Given the description of an element on the screen output the (x, y) to click on. 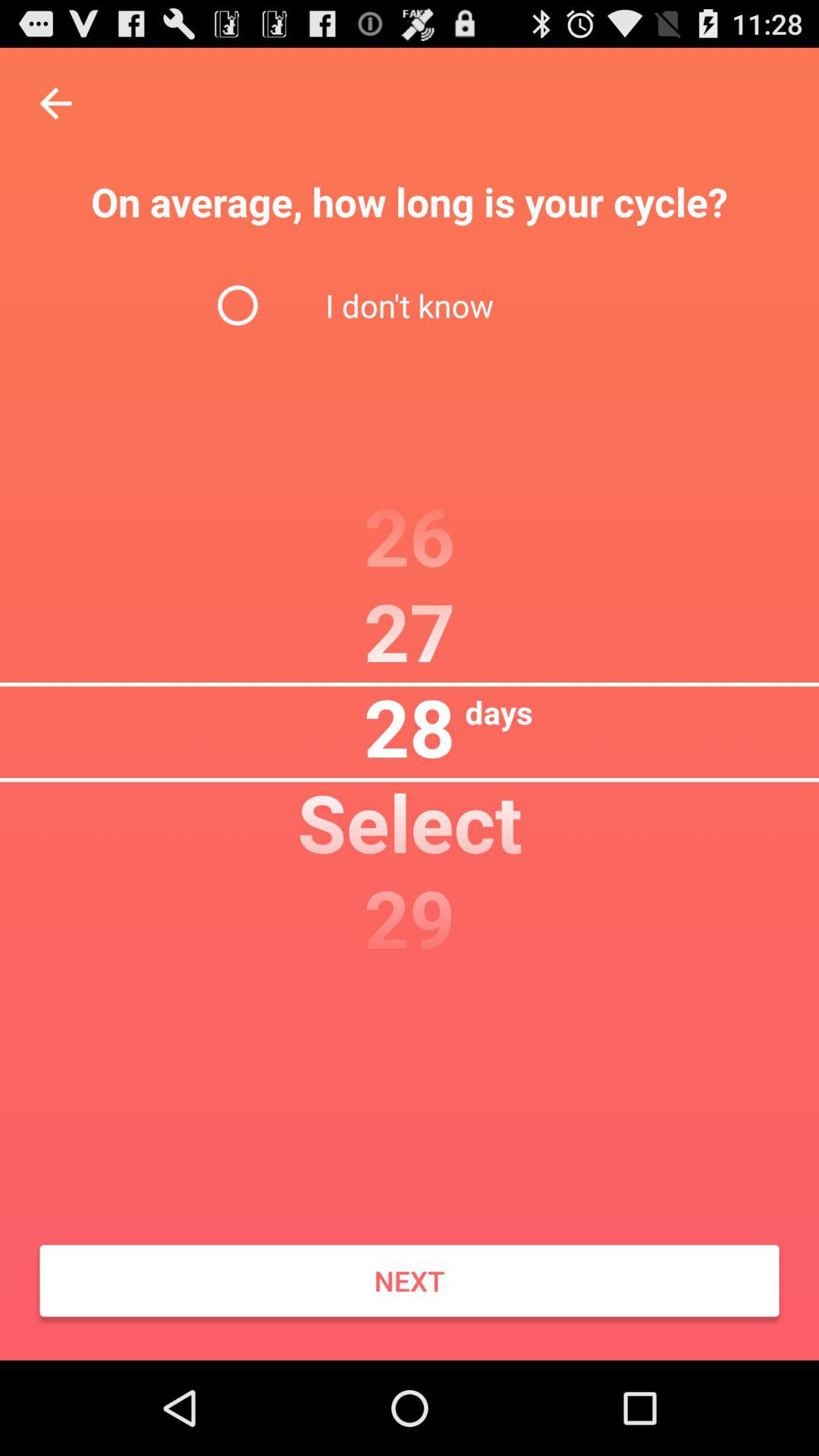
jump until the i don t (409, 304)
